Given the description of an element on the screen output the (x, y) to click on. 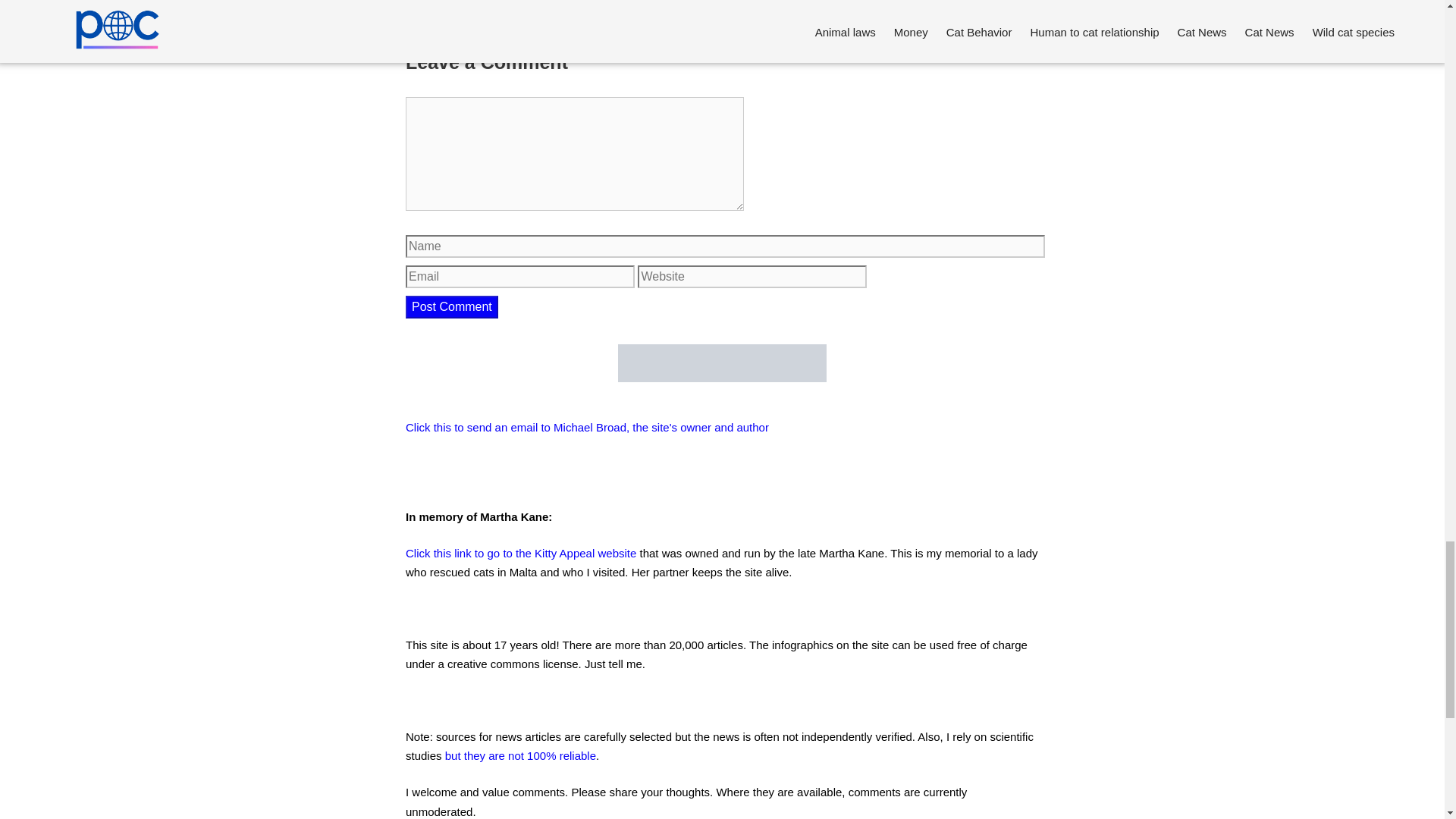
Post Comment (451, 306)
Reply (451, 16)
Post Comment (451, 306)
